Given the description of an element on the screen output the (x, y) to click on. 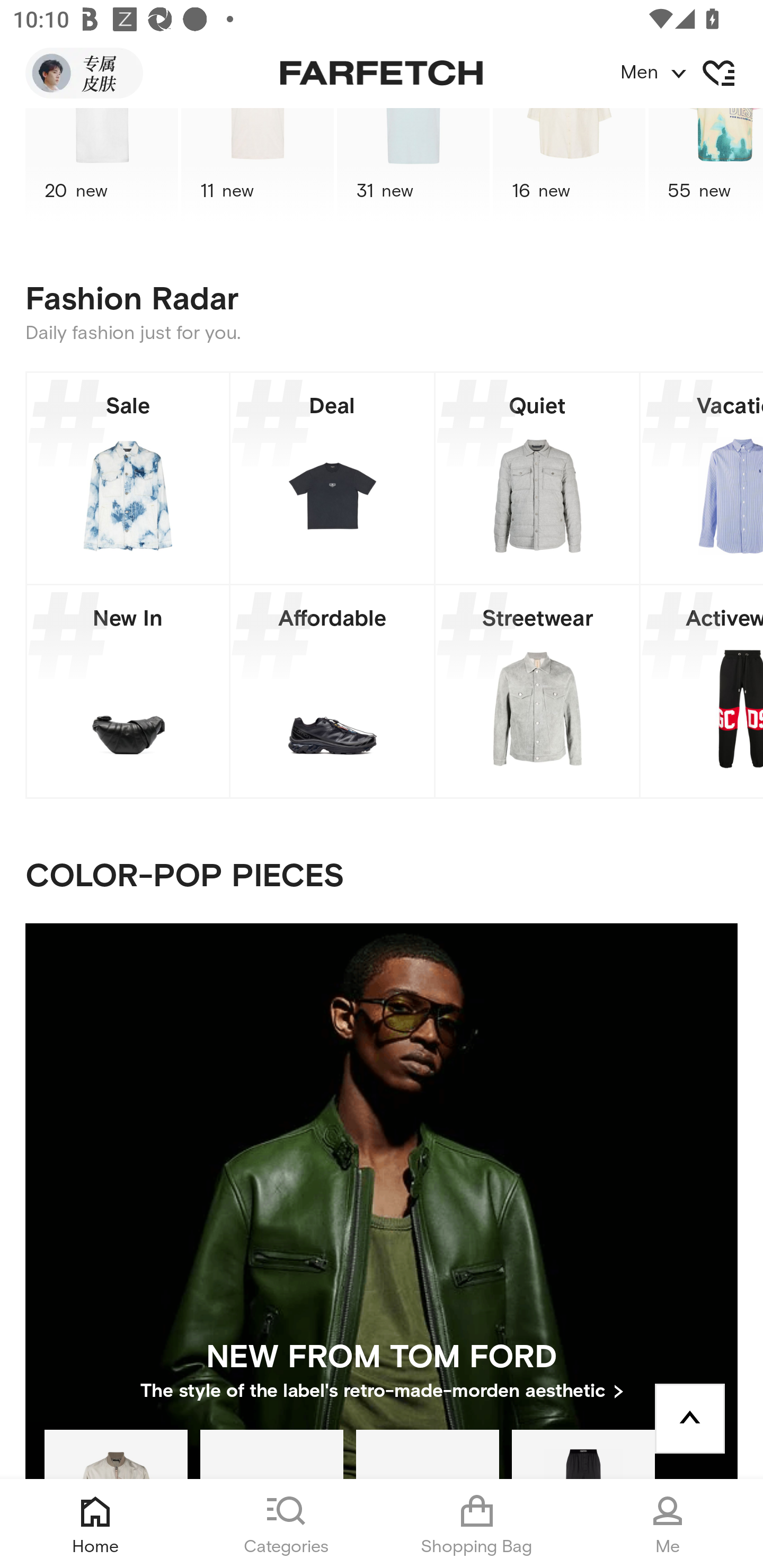
Men (691, 72)
20  new (101, 165)
11  new (257, 165)
31  new (413, 165)
16  new (568, 165)
55  new (705, 165)
Sale (127, 478)
Deal (332, 478)
Quiet (537, 478)
Vacation (701, 478)
New In (127, 690)
Affordable (332, 690)
Streetwear (537, 690)
Activewear (701, 690)
Categories (285, 1523)
Shopping Bag (476, 1523)
Me (667, 1523)
